Given the description of an element on the screen output the (x, y) to click on. 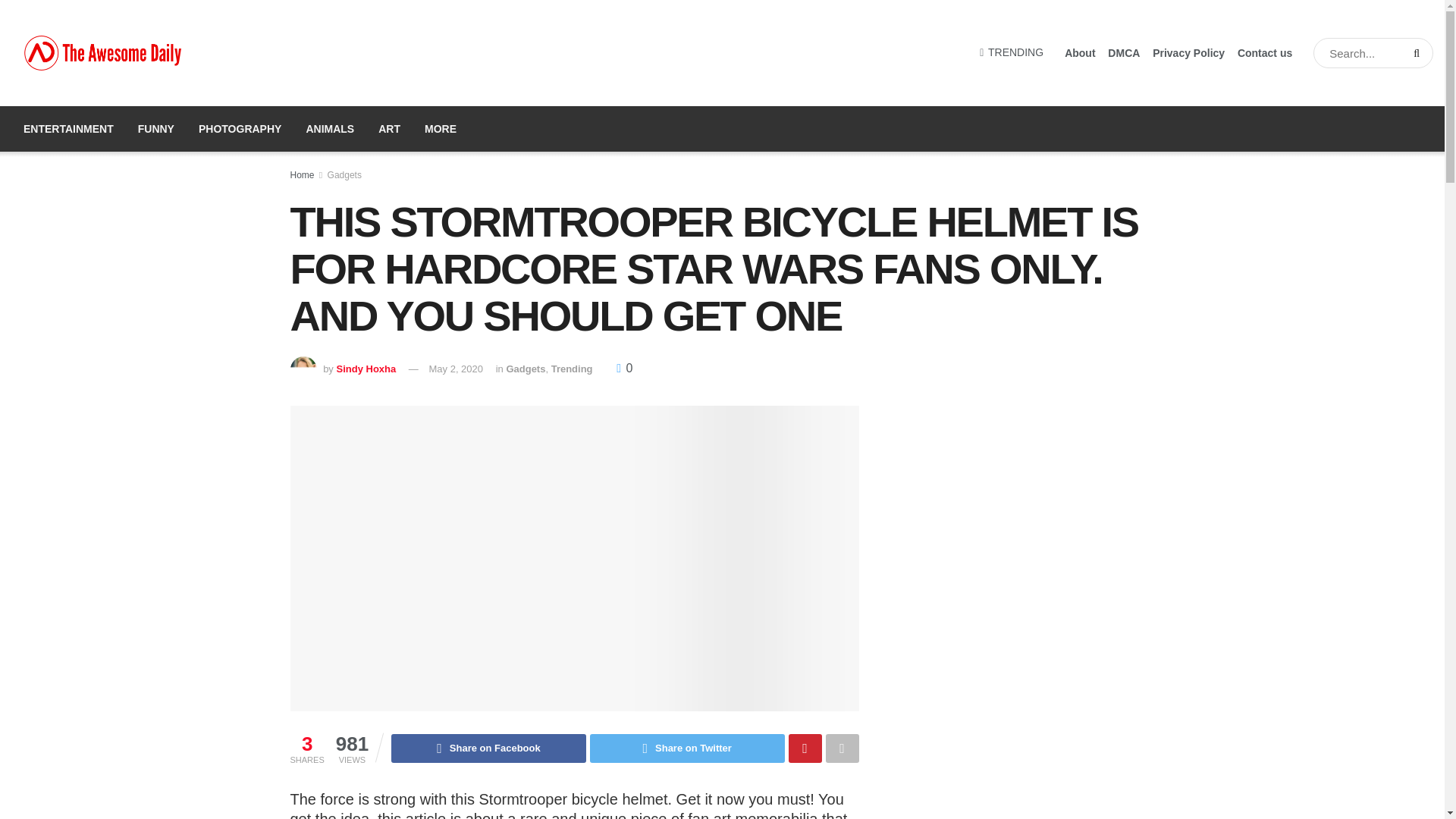
Sindy Hoxha (366, 367)
Gadgets (524, 367)
FUNNY (155, 128)
MORE (440, 128)
ANIMALS (330, 128)
0 (623, 367)
Share on Facebook (488, 747)
Share on Twitter (686, 747)
PHOTOGRAPHY (240, 128)
Trending (571, 367)
ART (389, 128)
Contact us (1264, 53)
Home (301, 174)
May 2, 2020 (455, 367)
Privacy Policy (1188, 53)
